Given the description of an element on the screen output the (x, y) to click on. 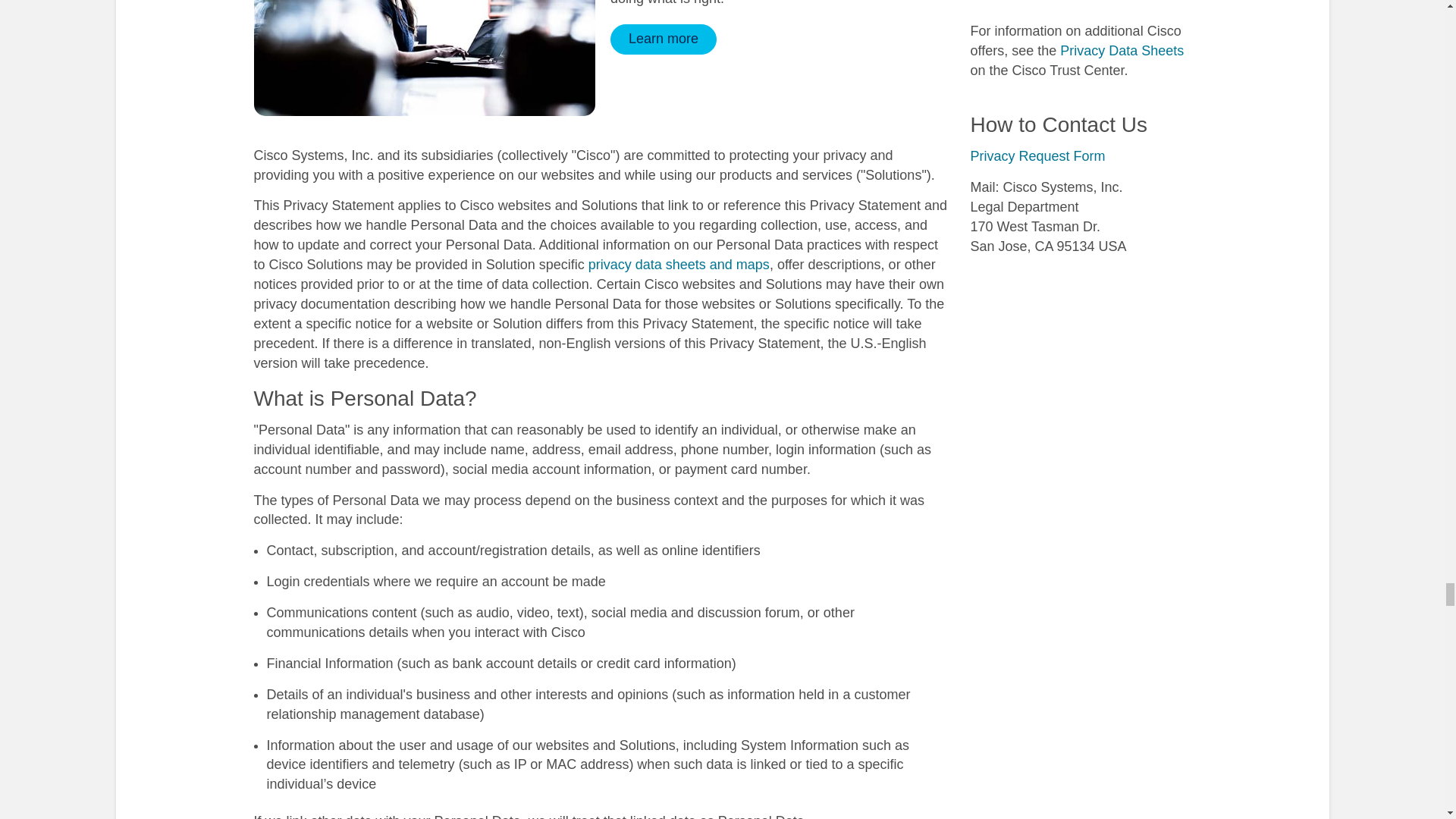
au77222-600x400 (424, 57)
Learn more (663, 39)
privacy data sheets and maps (679, 264)
